Given the description of an element on the screen output the (x, y) to click on. 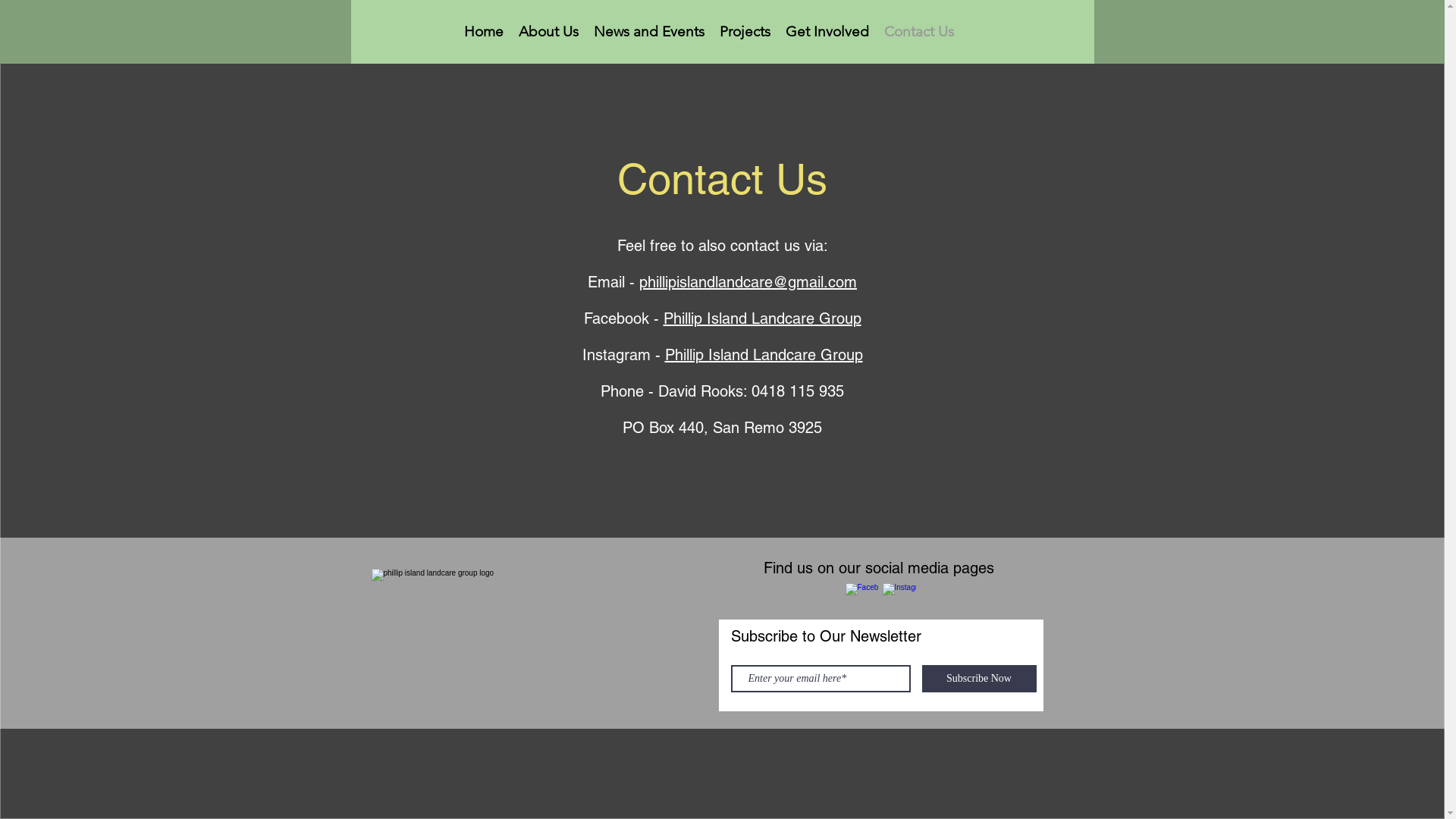
Contact Us Element type: text (918, 31)
Phillip Island Landcare Group Element type: text (761, 318)
Home Element type: text (483, 31)
Phillip Island Landcare Group Element type: text (763, 354)
Subscribe Now Element type: text (979, 678)
phillipislandlandcare@gmail.com Element type: text (747, 282)
